Given the description of an element on the screen output the (x, y) to click on. 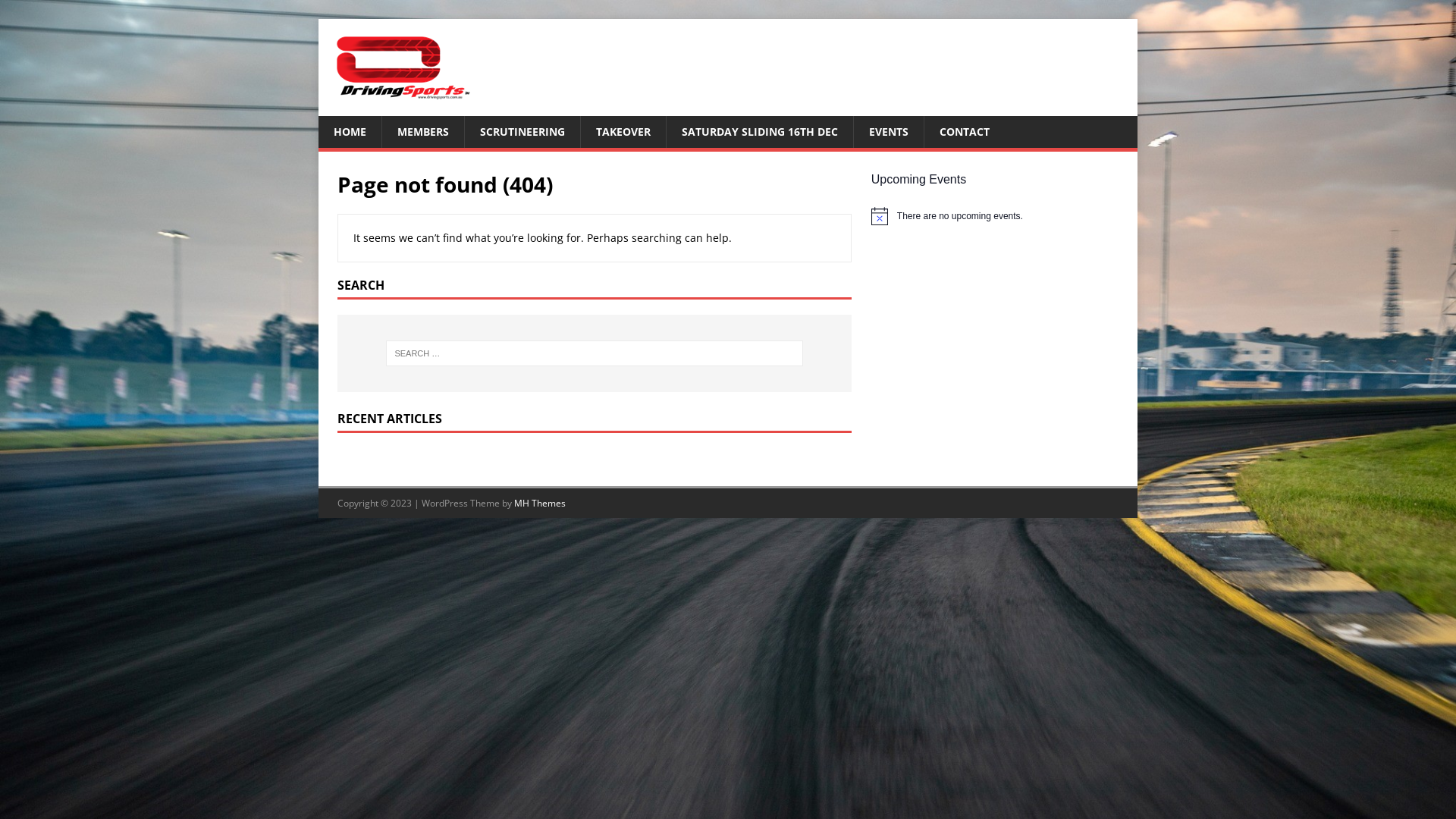
EVENTS Element type: text (888, 131)
SATURDAY SLIDING 16TH DEC Element type: text (759, 131)
MH Themes Element type: text (539, 502)
Search Element type: text (56, 11)
TAKEOVER Element type: text (622, 131)
SCRUTINEERING Element type: text (522, 131)
CONTACT Element type: text (963, 131)
HOME Element type: text (349, 131)
MEMBERS Element type: text (422, 131)
